Given the description of an element on the screen output the (x, y) to click on. 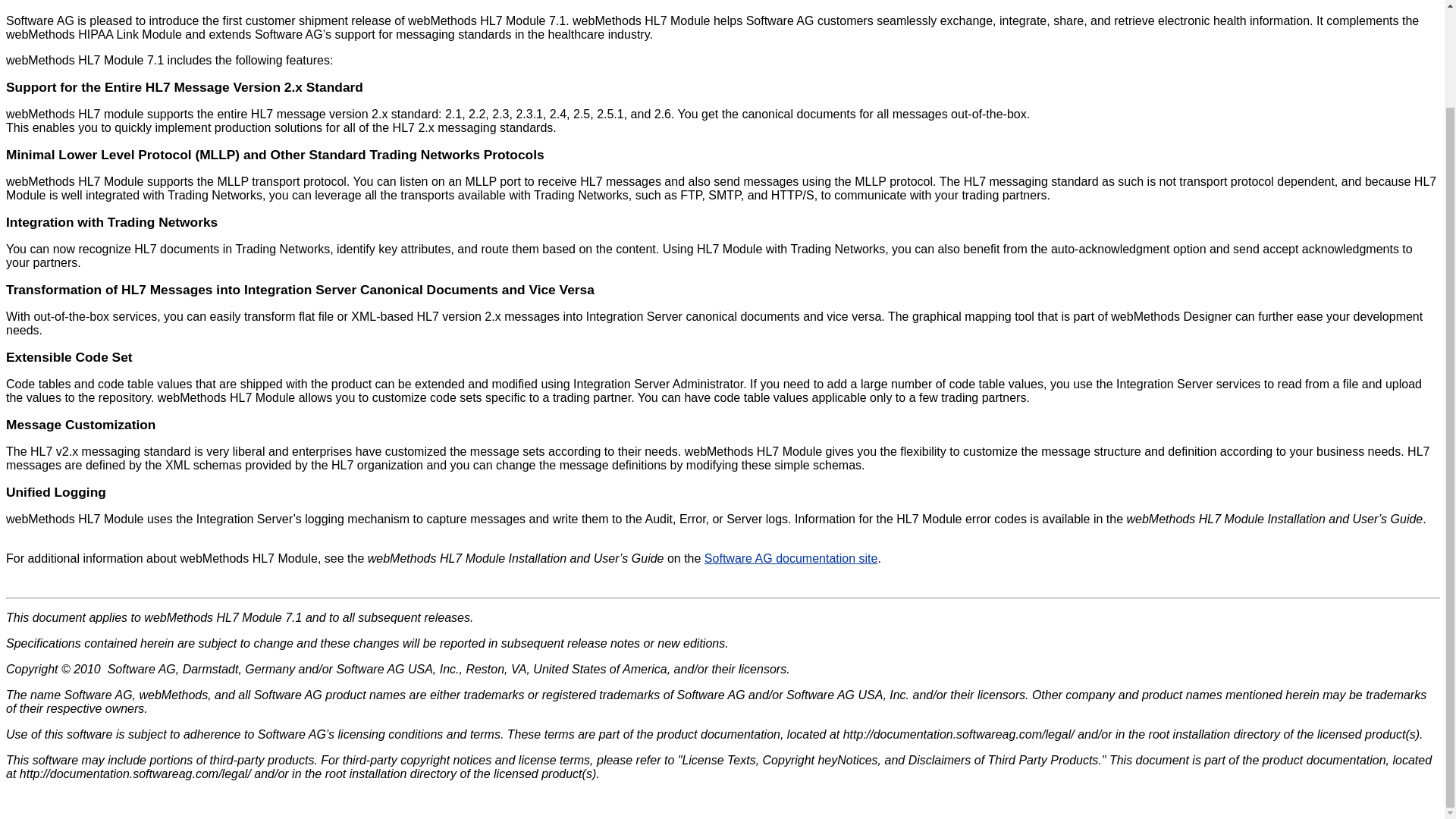
Software AG documentation site (790, 558)
